Given the description of an element on the screen output the (x, y) to click on. 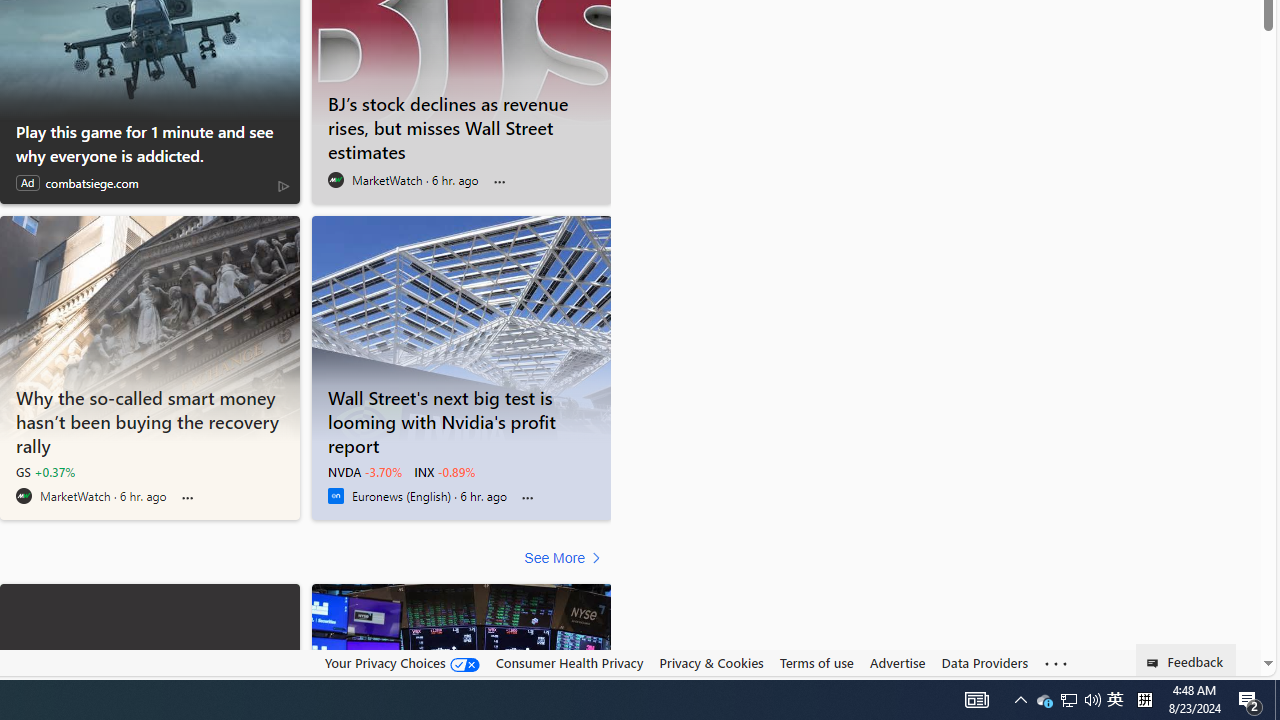
NVDA -3.70% (363, 471)
Class: feedback_link_icon-DS-EntryPoint1-1 (1156, 663)
Consumer Health Privacy (569, 662)
Privacy & Cookies (711, 663)
See More (565, 557)
Advertise (897, 663)
Advertise (897, 662)
Ad (27, 183)
Your Privacy Choices (401, 662)
INX -0.89% (444, 471)
Terms of use (816, 663)
Consumer Health Privacy (569, 663)
